Given the description of an element on the screen output the (x, y) to click on. 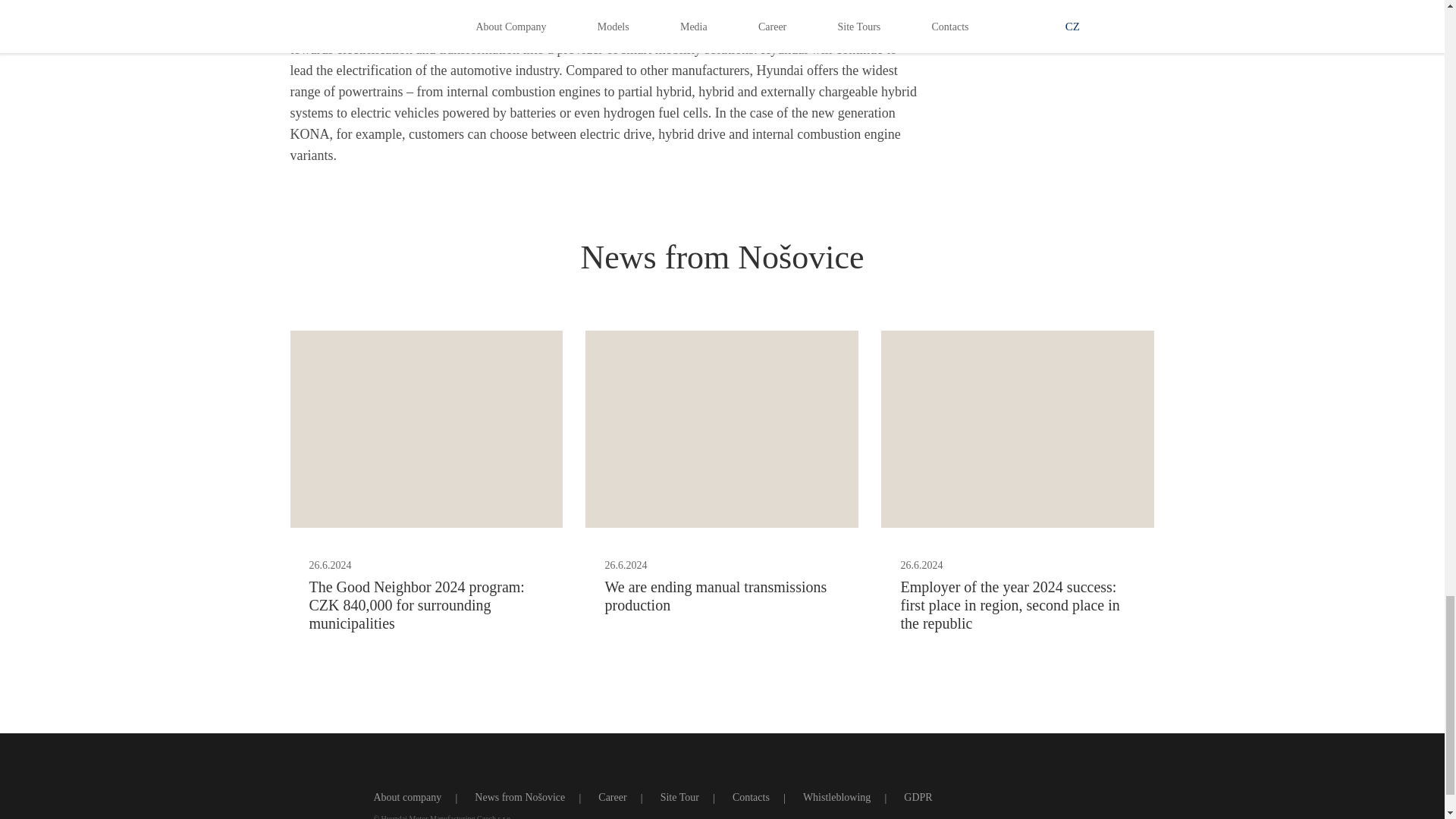
Hyundai Motor (311, 796)
